Given the description of an element on the screen output the (x, y) to click on. 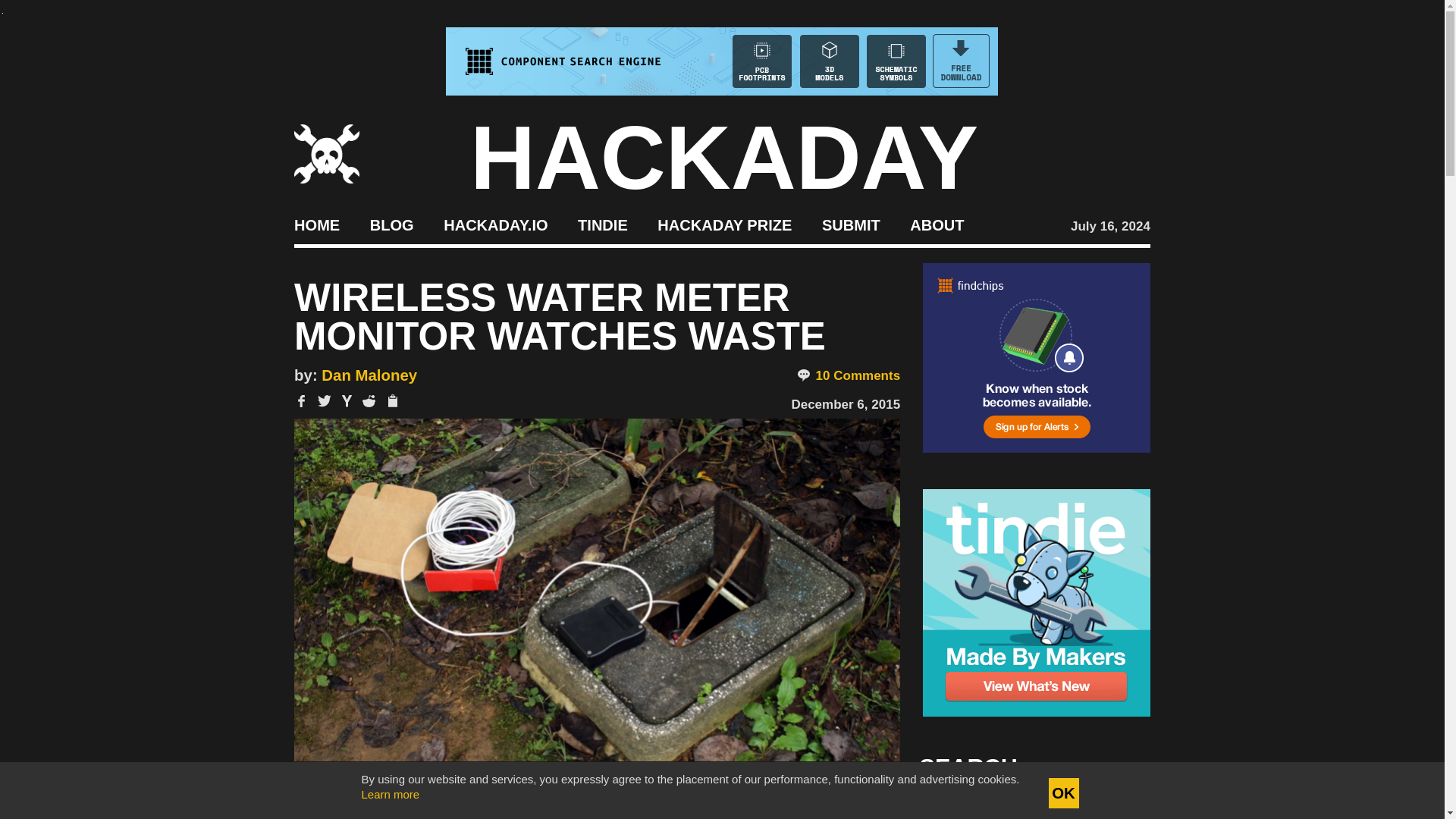
this wireless Arduino-based water meter interface (583, 806)
ABOUT (936, 224)
Share on Twitter (324, 400)
TINDIE (602, 224)
HOME (316, 224)
Posts by Dan Maloney (368, 375)
Search (1115, 808)
Share on Hacker News (347, 400)
HACKADAY (724, 157)
BLOG (391, 224)
Search (1115, 808)
SUBMIT (851, 224)
Share on Facebook (301, 400)
HACKADAY PRIZE (725, 224)
December 6, 2015 - 7:01 am (844, 404)
